Given the description of an element on the screen output the (x, y) to click on. 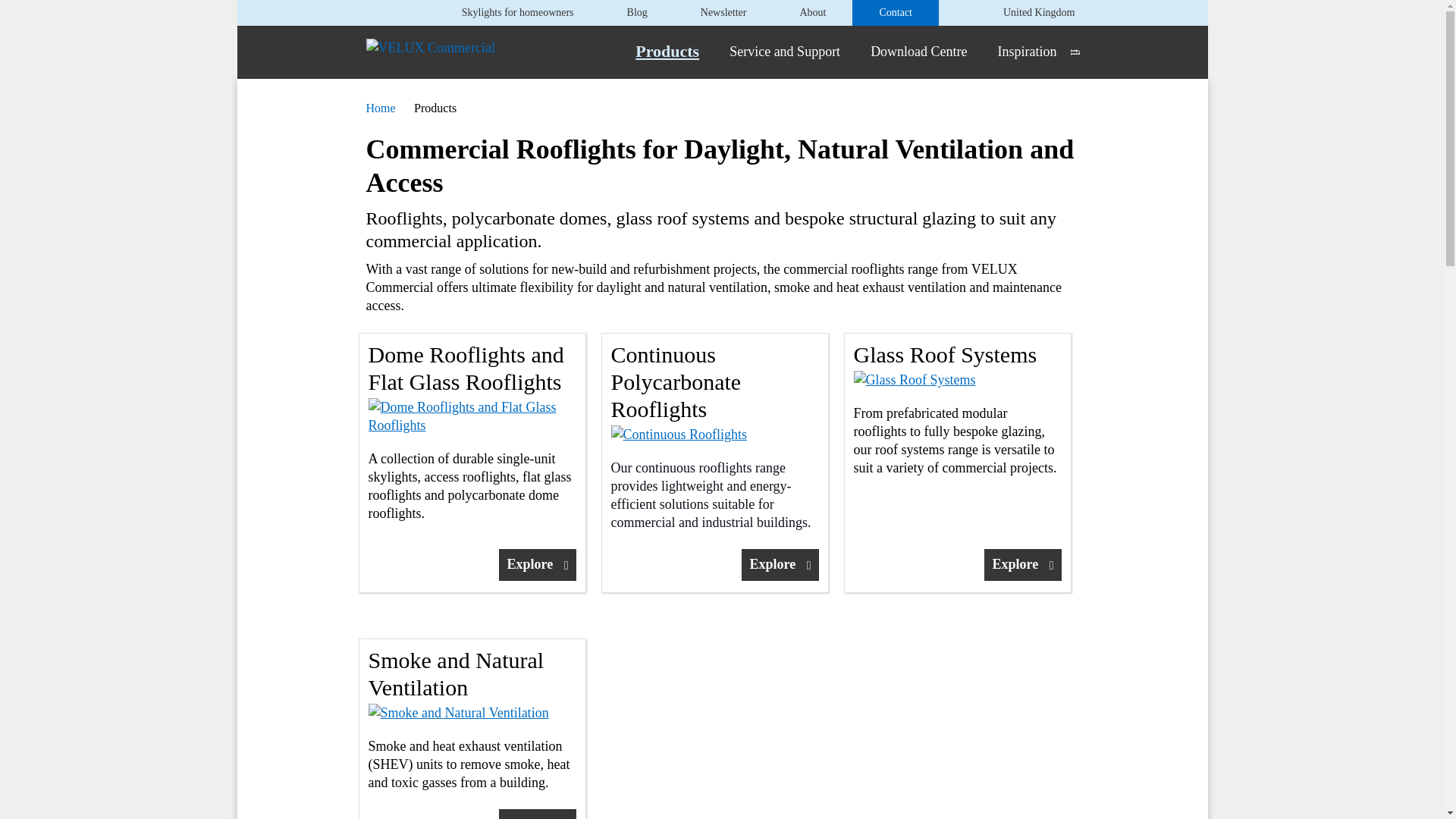
About VELUX Commercial (812, 12)
Newsletter (723, 12)
Products (666, 50)
About (812, 12)
Blog (637, 12)
Skylights for homeowners (517, 12)
Contact (895, 12)
United Kingdom (1035, 12)
